Given the description of an element on the screen output the (x, y) to click on. 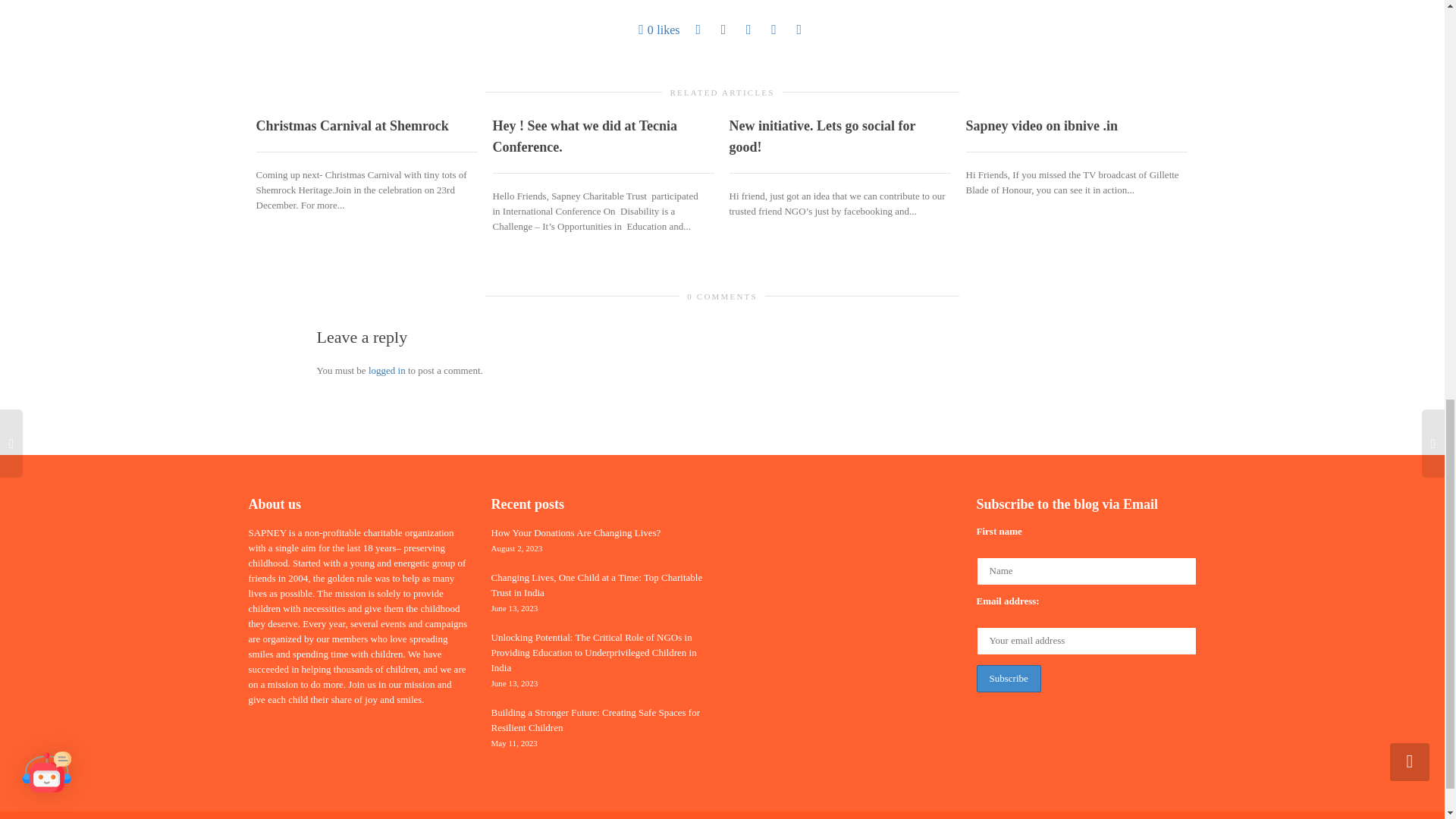
Christmas Carnival at Shemrock (352, 125)
Subscribe (1008, 678)
0 likes (659, 29)
